Given the description of an element on the screen output the (x, y) to click on. 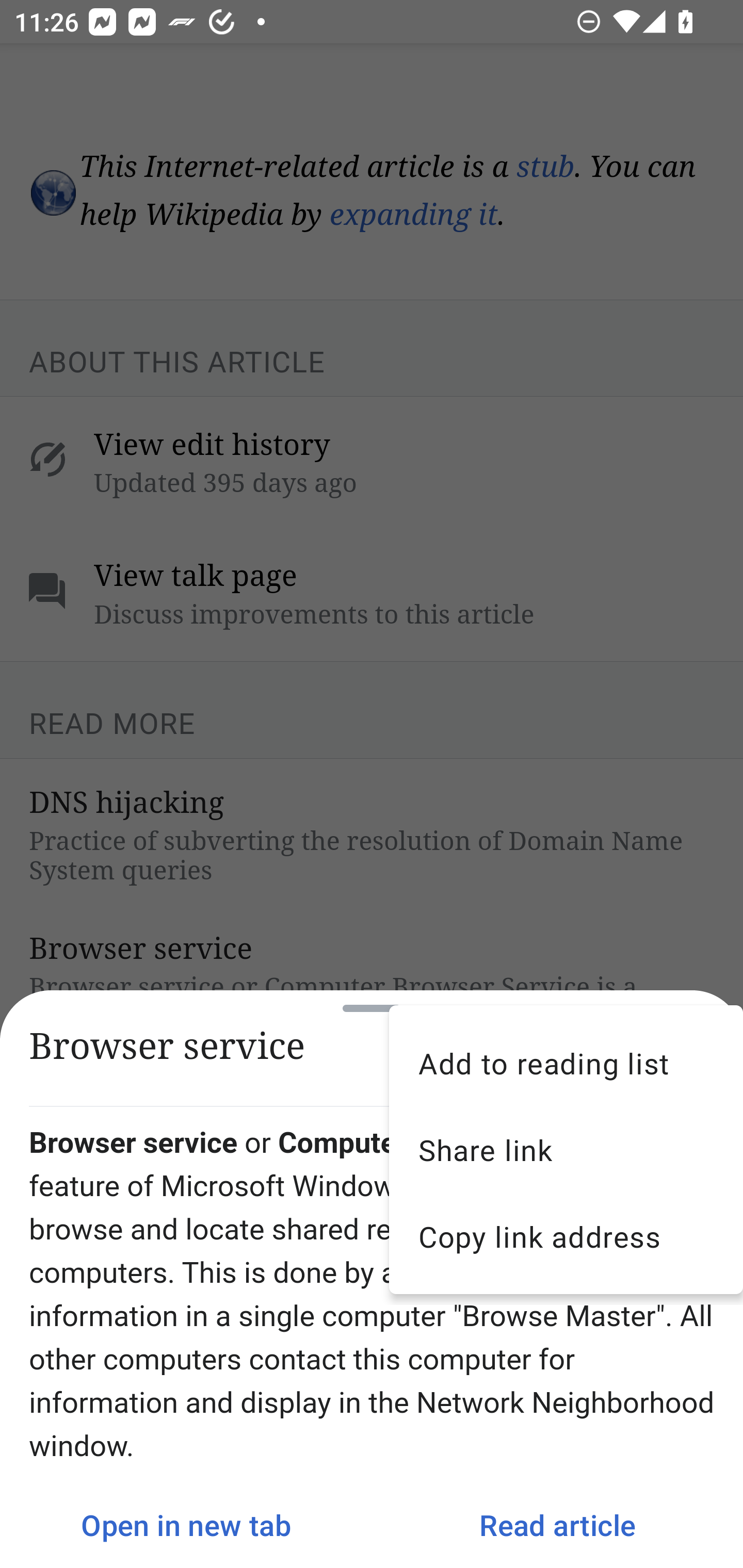
Add to reading list (566, 1063)
Share link (566, 1150)
Copy link address (566, 1236)
